Given the description of an element on the screen output the (x, y) to click on. 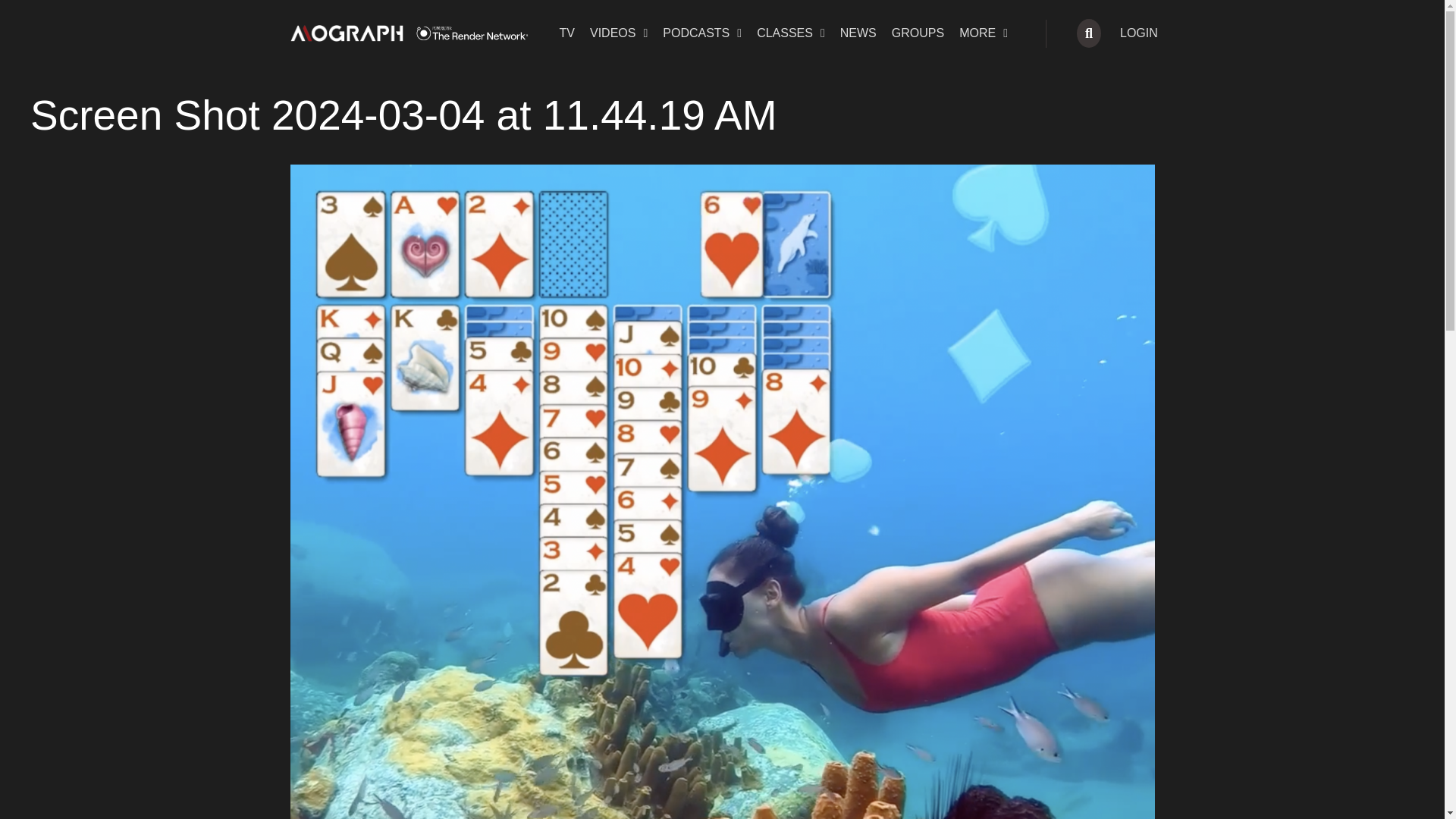
CLASSES (790, 33)
GROUPS (917, 33)
LOGIN (1139, 33)
VIDEOS (618, 33)
MORE (983, 33)
PODCASTS (702, 33)
NEWS (857, 33)
